Given the description of an element on the screen output the (x, y) to click on. 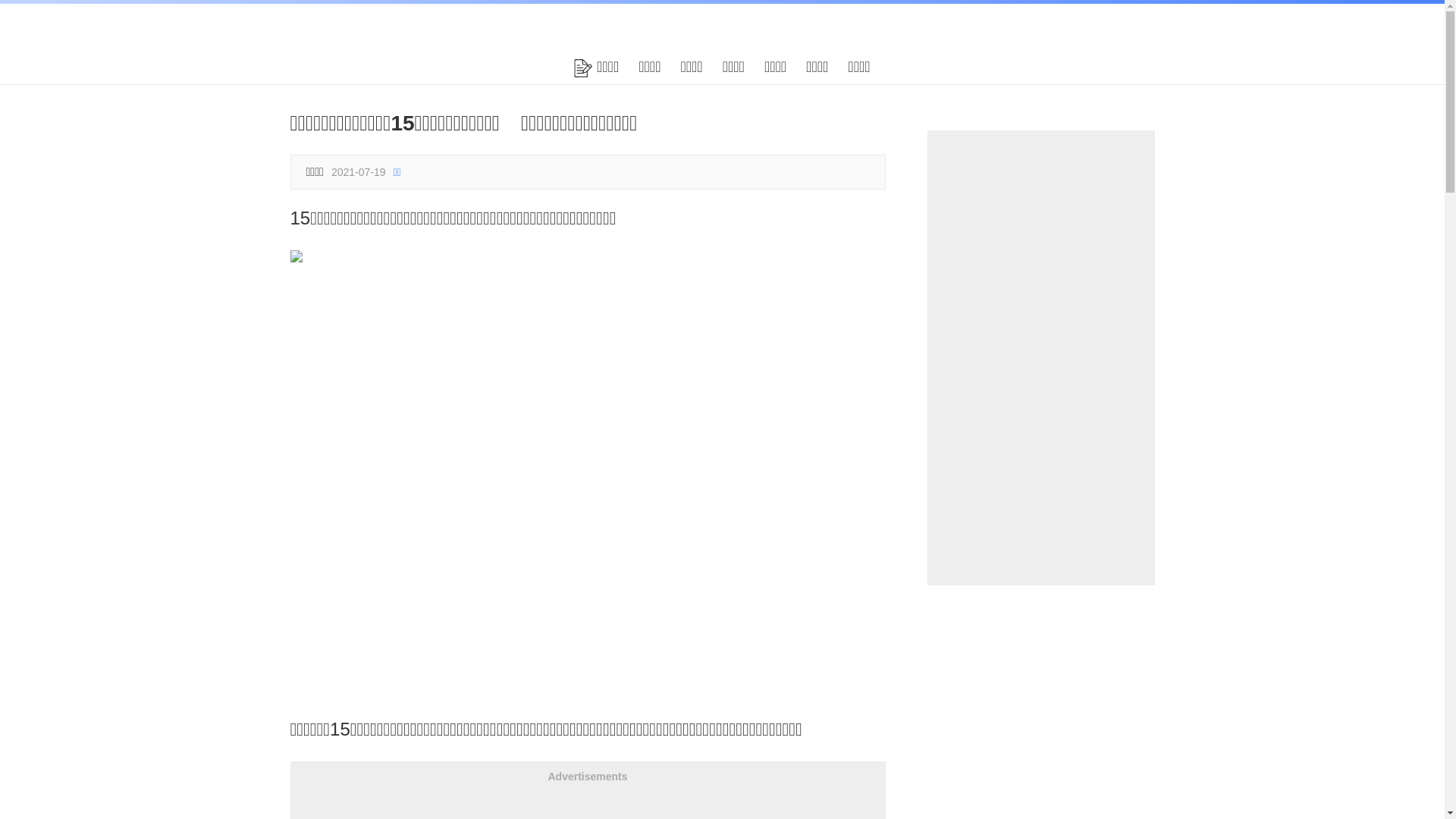
Advertisement Element type: hover (1040, 357)
